Given the description of an element on the screen output the (x, y) to click on. 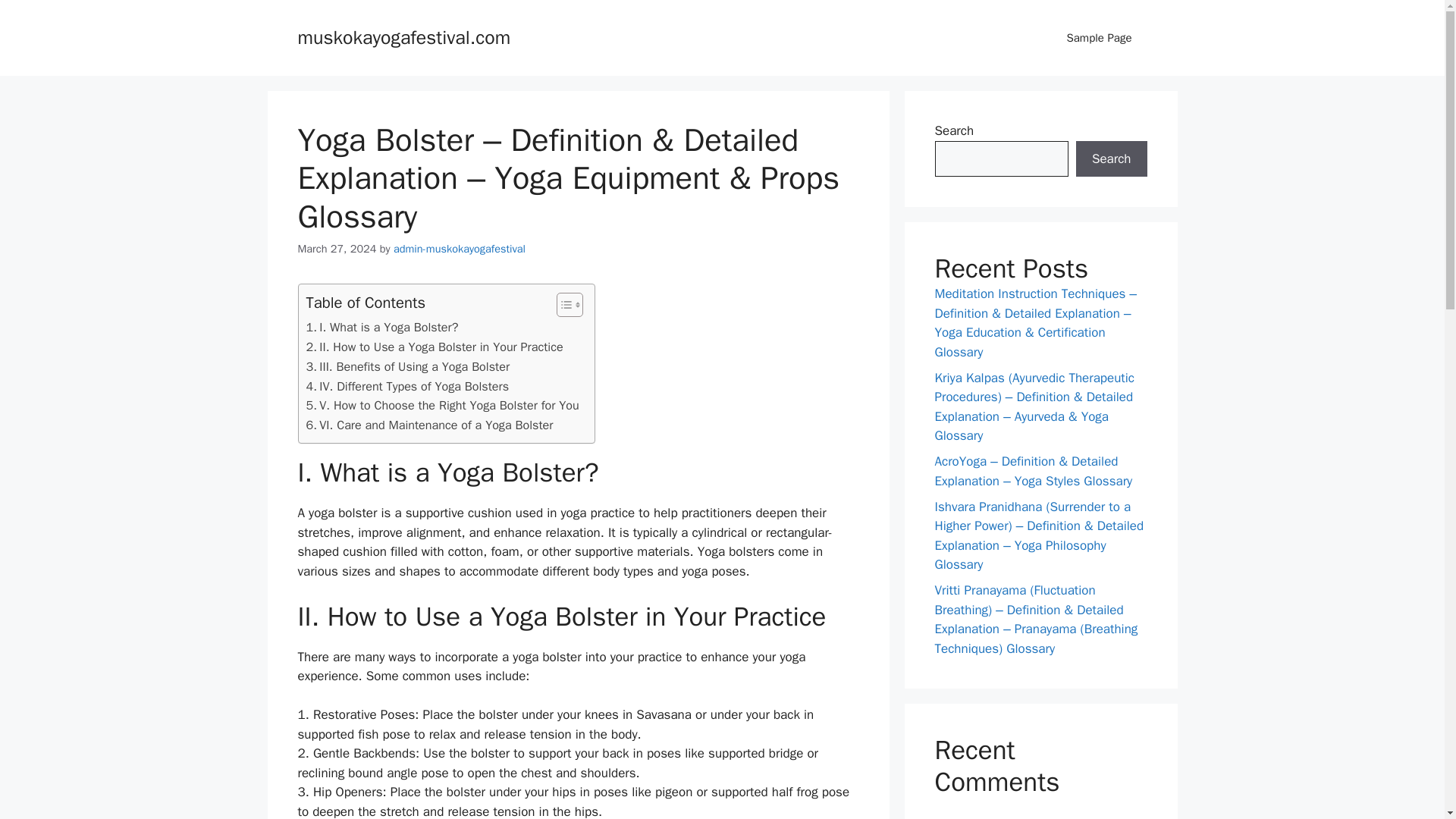
VI. Care and Maintenance of a Yoga Bolster (429, 424)
II. How to Use a Yoga Bolster in Your Practice (434, 347)
I. What is a Yoga Bolster? (381, 327)
muskokayogafestival.com (404, 37)
I. What is a Yoga Bolster? (381, 327)
V. How to Choose the Right Yoga Bolster for You (442, 405)
II. How to Use a Yoga Bolster in Your Practice (434, 347)
VI. Care and Maintenance of a Yoga Bolster (429, 424)
IV. Different Types of Yoga Bolsters (407, 386)
Search (1111, 158)
